Given the description of an element on the screen output the (x, y) to click on. 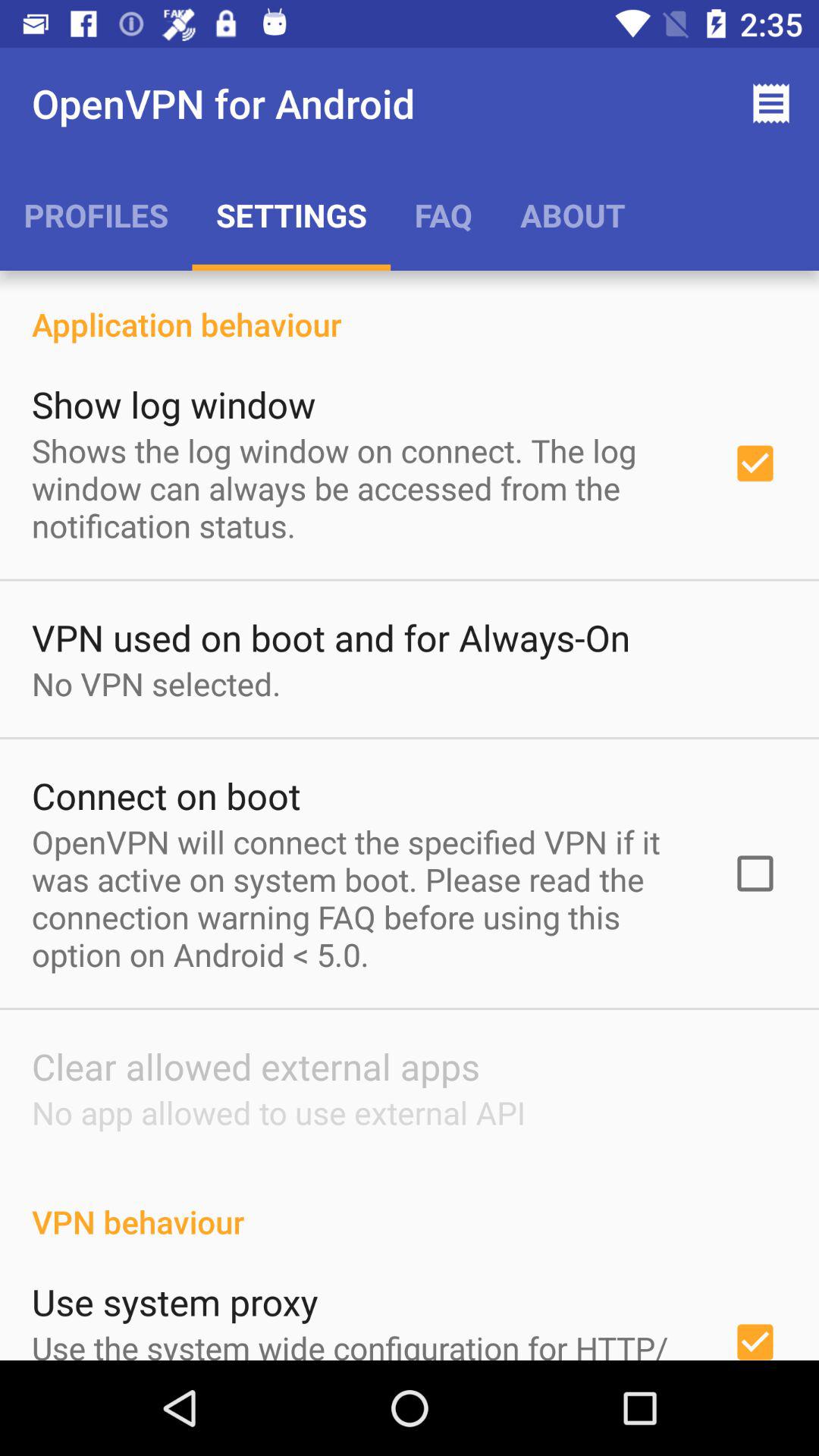
flip to the profiles (96, 214)
